Given the description of an element on the screen output the (x, y) to click on. 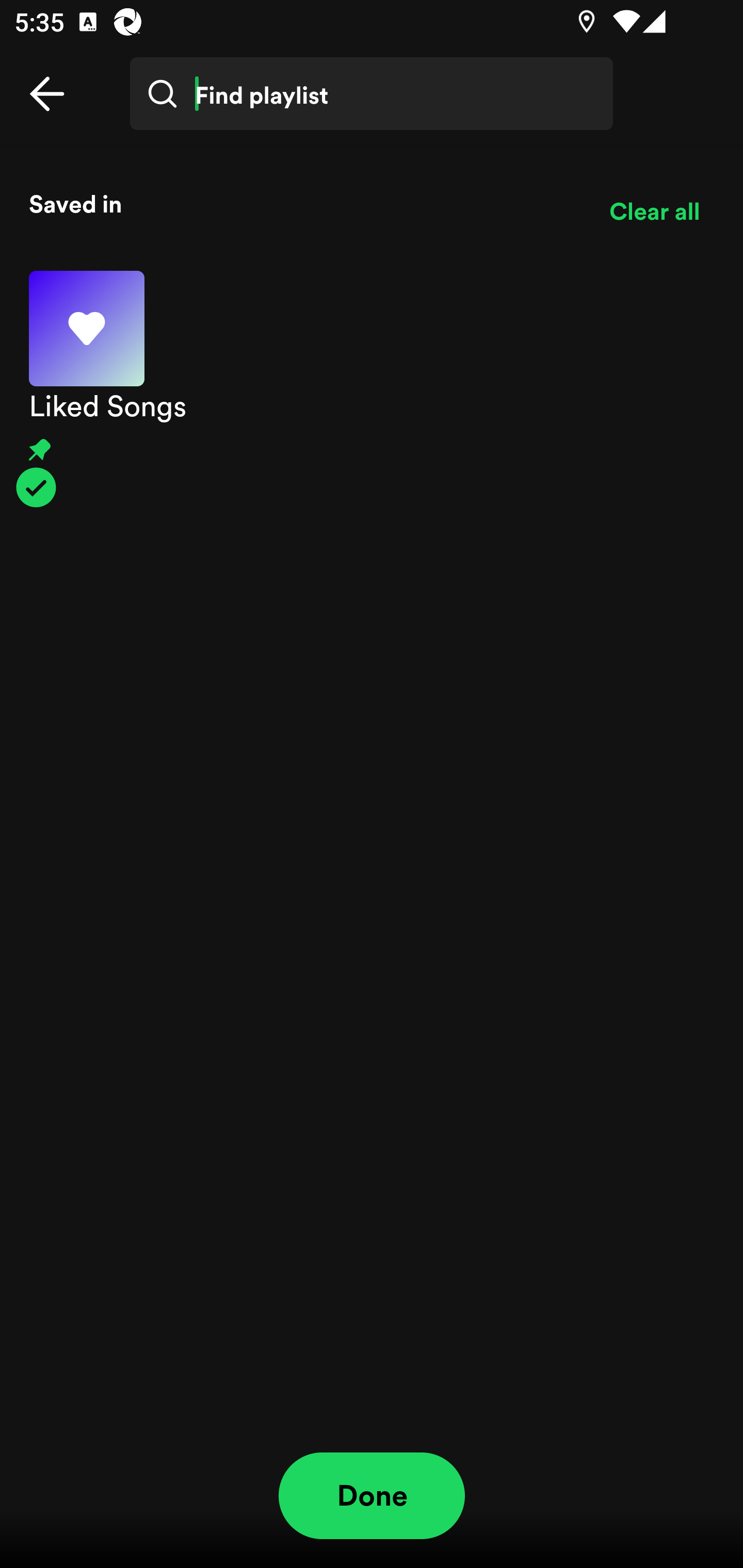
Back (46, 93)
Find playlist (371, 94)
Saved in (304, 203)
Clear all (654, 211)
Liked Songs Pinned (371, 389)
Done (371, 1495)
